Given the description of an element on the screen output the (x, y) to click on. 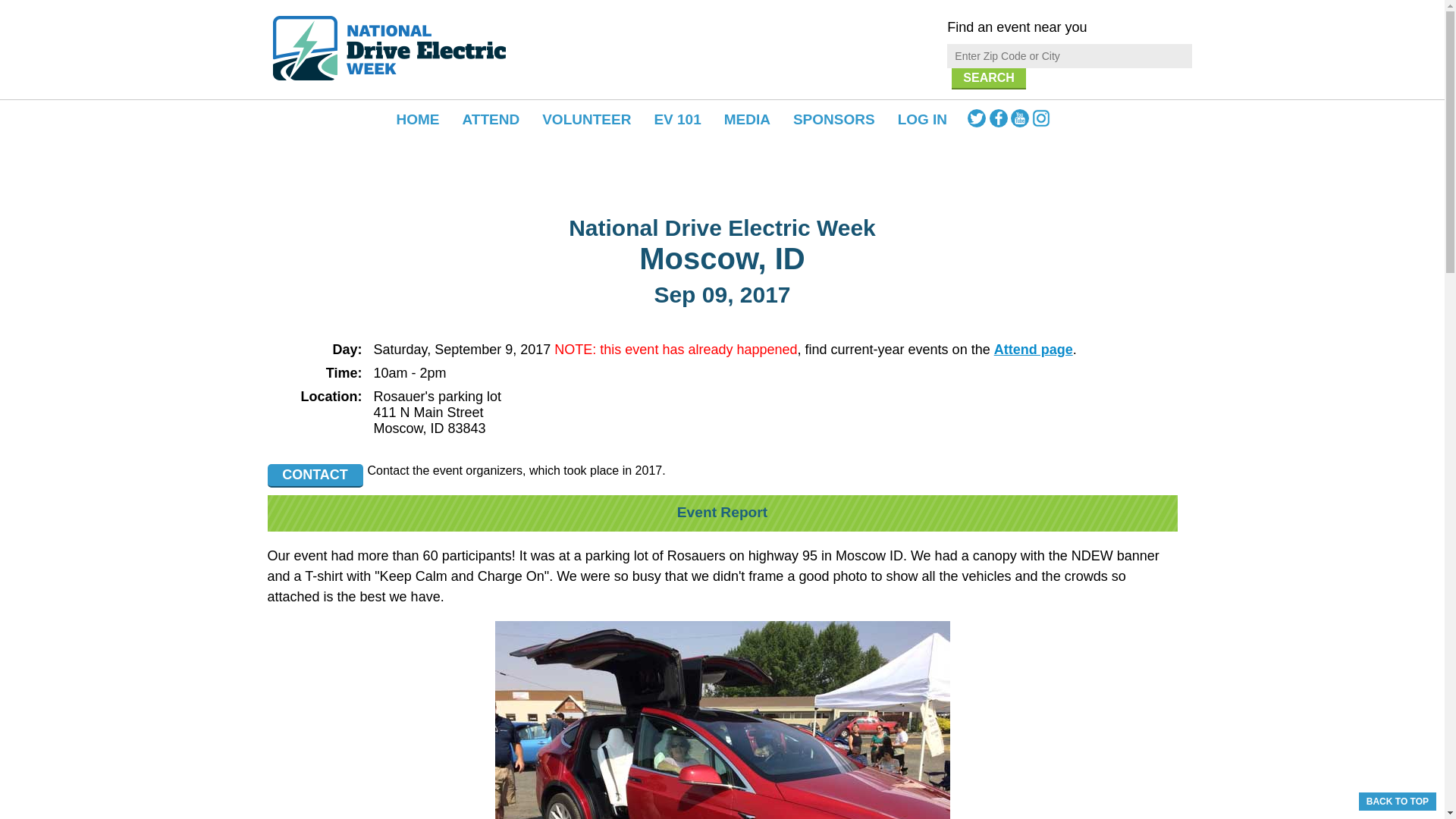
Search (989, 78)
CONTACT (314, 475)
Facebook (1000, 123)
Twitter (978, 123)
Attend (491, 119)
EV 101 (676, 119)
Volunteer (586, 119)
Search (989, 78)
Attend page (1033, 349)
SPONSORS (833, 119)
